Given the description of an element on the screen output the (x, y) to click on. 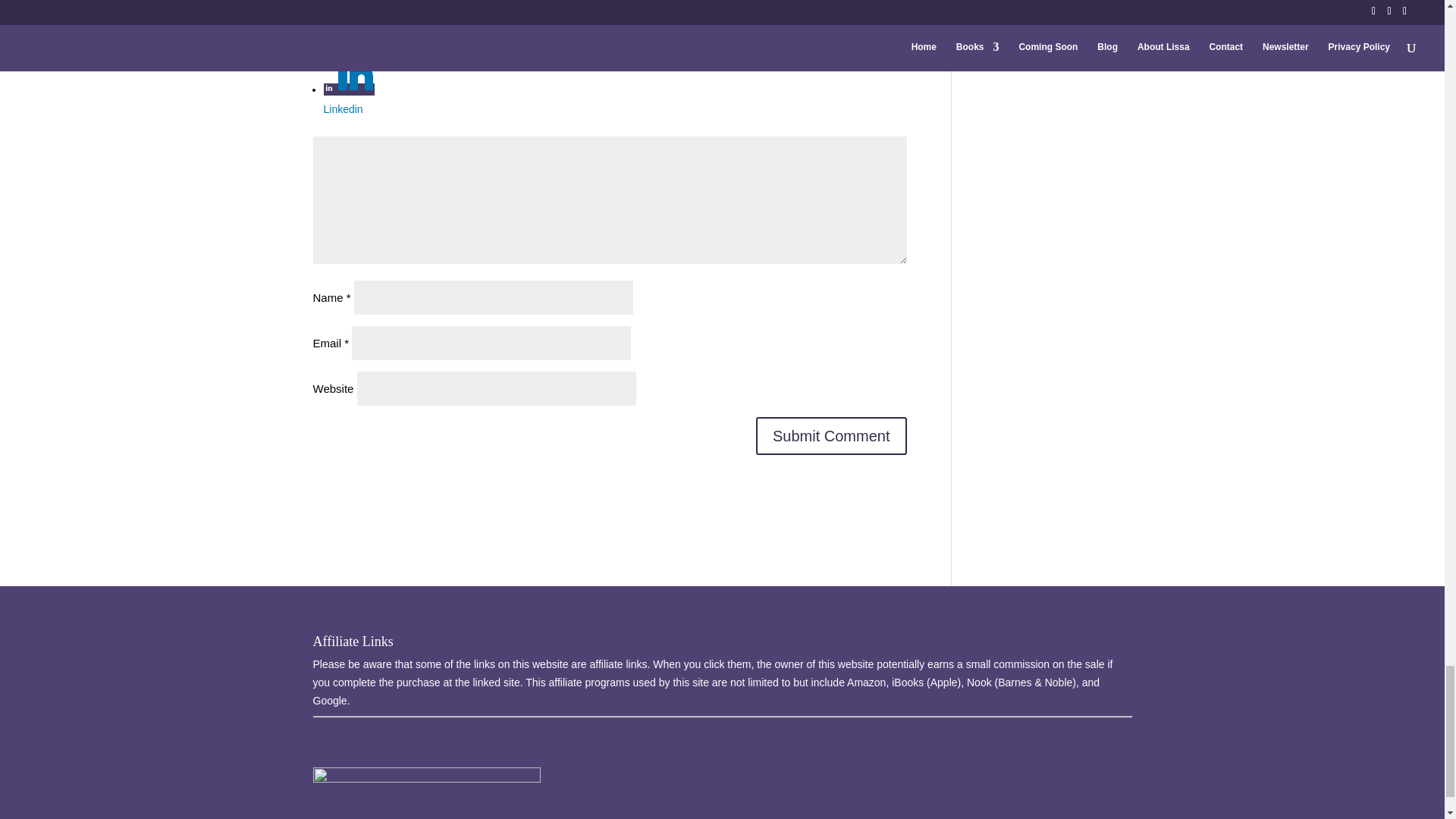
Submit Comment (831, 435)
Flattr (360, 37)
Submit Comment (831, 435)
Linkedin (360, 100)
